Given the description of an element on the screen output the (x, y) to click on. 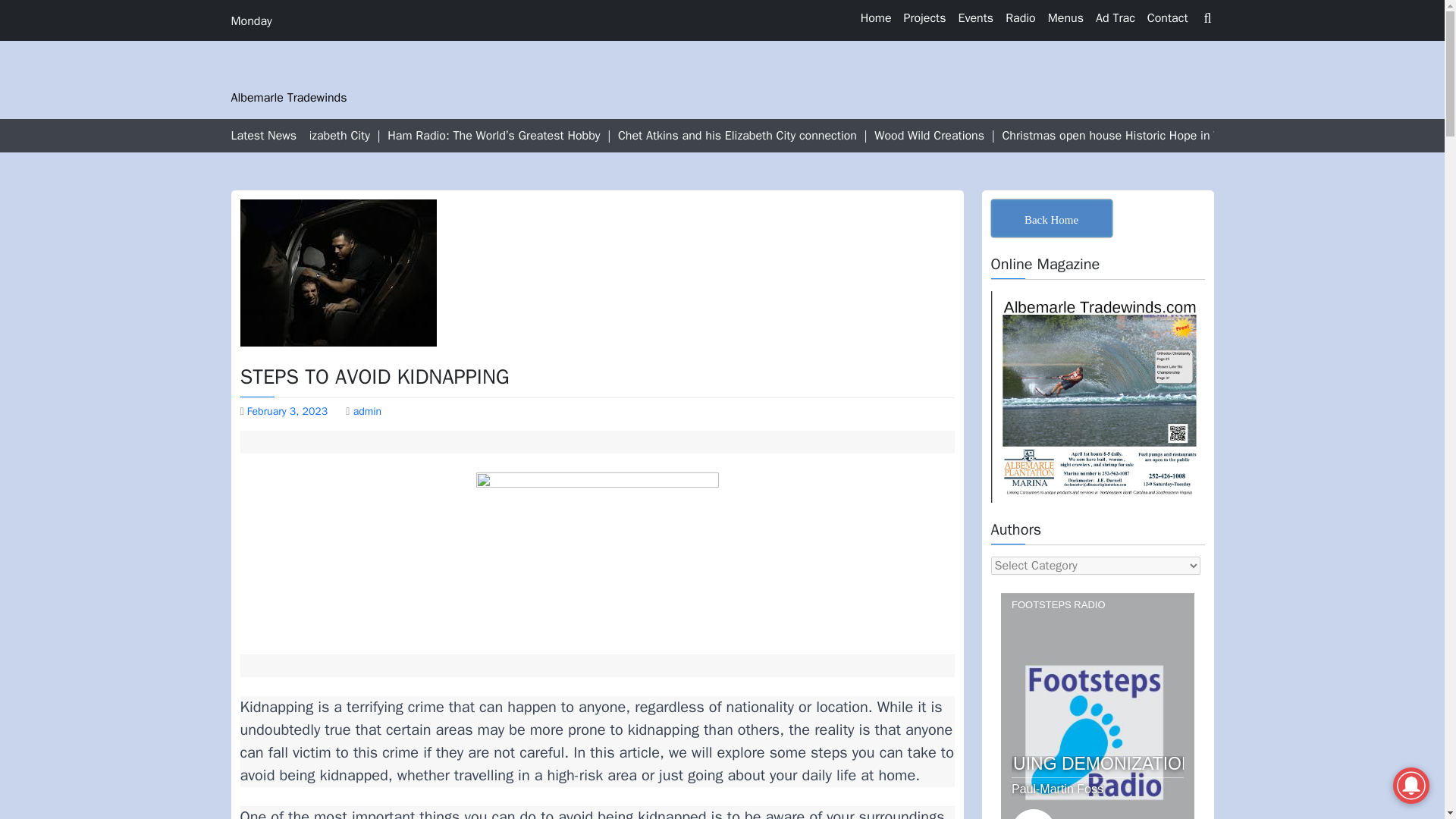
Ad Trac (1115, 18)
Menus (1065, 18)
Search (1175, 54)
Radio (1020, 18)
Home (876, 18)
Back to Home (1051, 218)
February 3, 2023 (287, 410)
Back Home (1051, 218)
Events (975, 18)
Projects (925, 18)
admin (367, 410)
Contact (1167, 18)
